Given the description of an element on the screen output the (x, y) to click on. 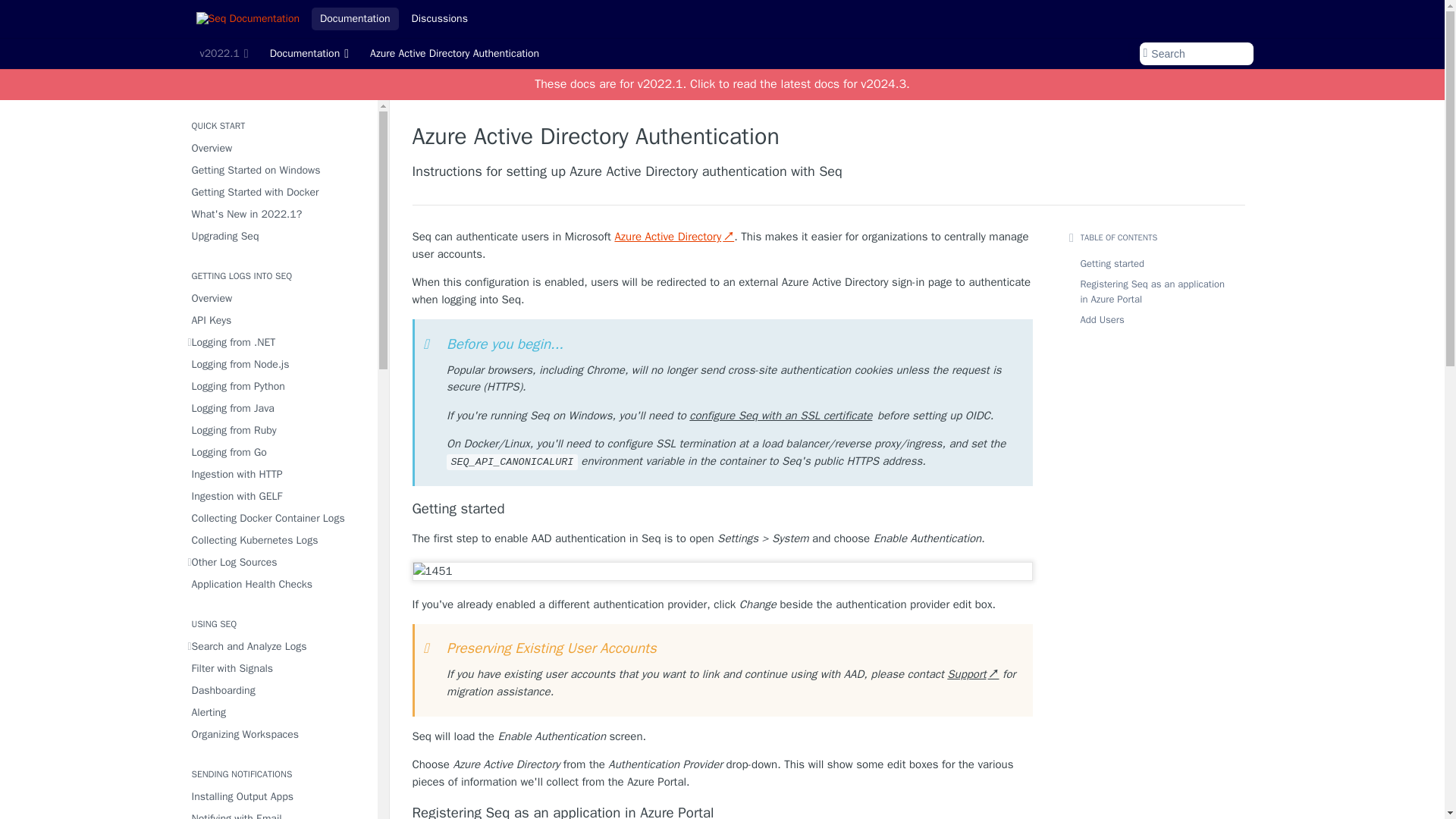
Other Log Sources (277, 562)
Logging from Node.js (277, 363)
Getting Started on Windows (277, 169)
Logging from Java (277, 408)
Documentation (309, 53)
What's New in 2022.1? (277, 213)
Logging from .NET (277, 342)
Logging from Python (277, 385)
Discussions (439, 18)
Search (1195, 53)
